Given the description of an element on the screen output the (x, y) to click on. 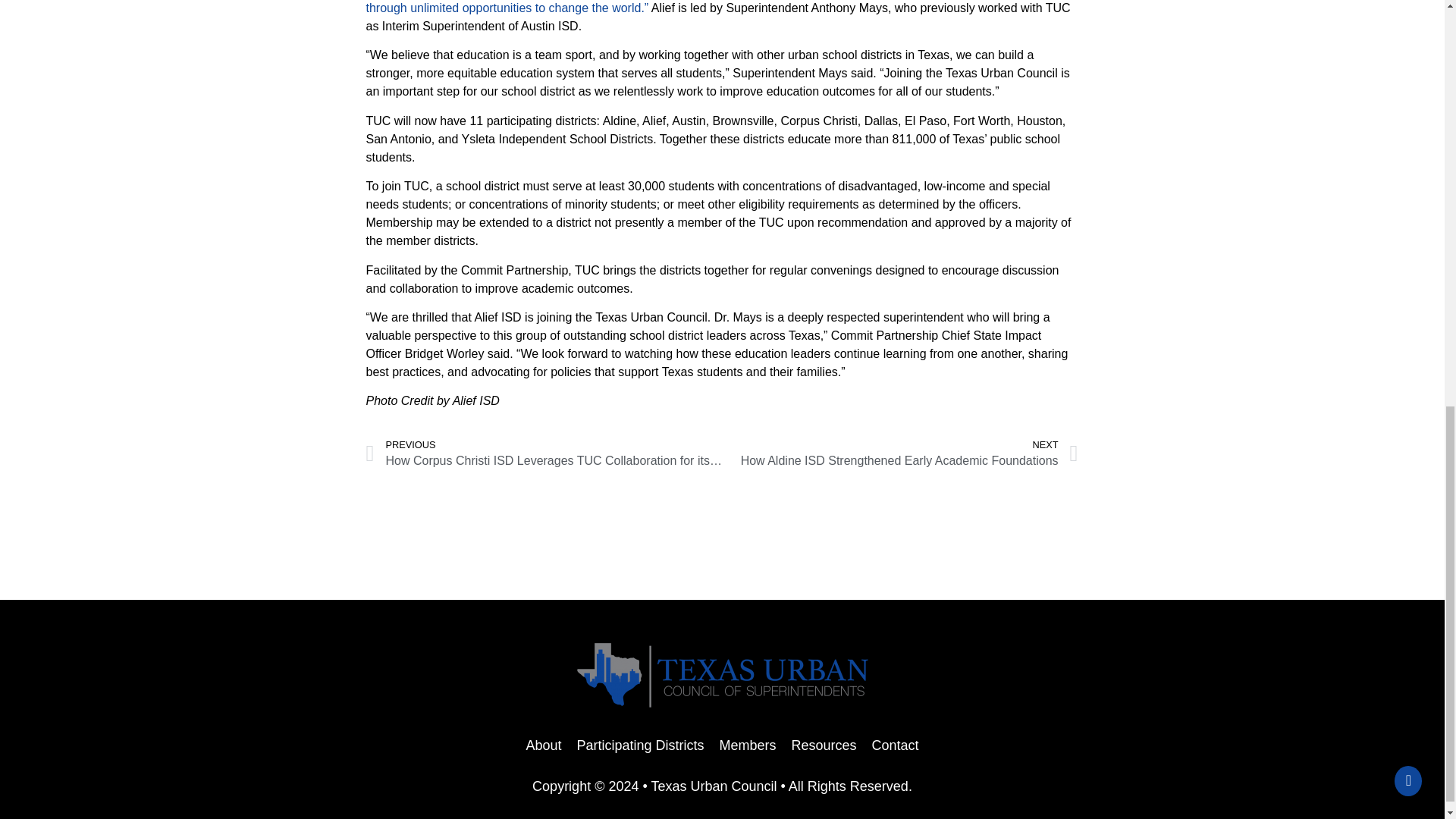
About (543, 745)
Participating Districts (640, 745)
Resources (824, 745)
Members (747, 745)
